Given the description of an element on the screen output the (x, y) to click on. 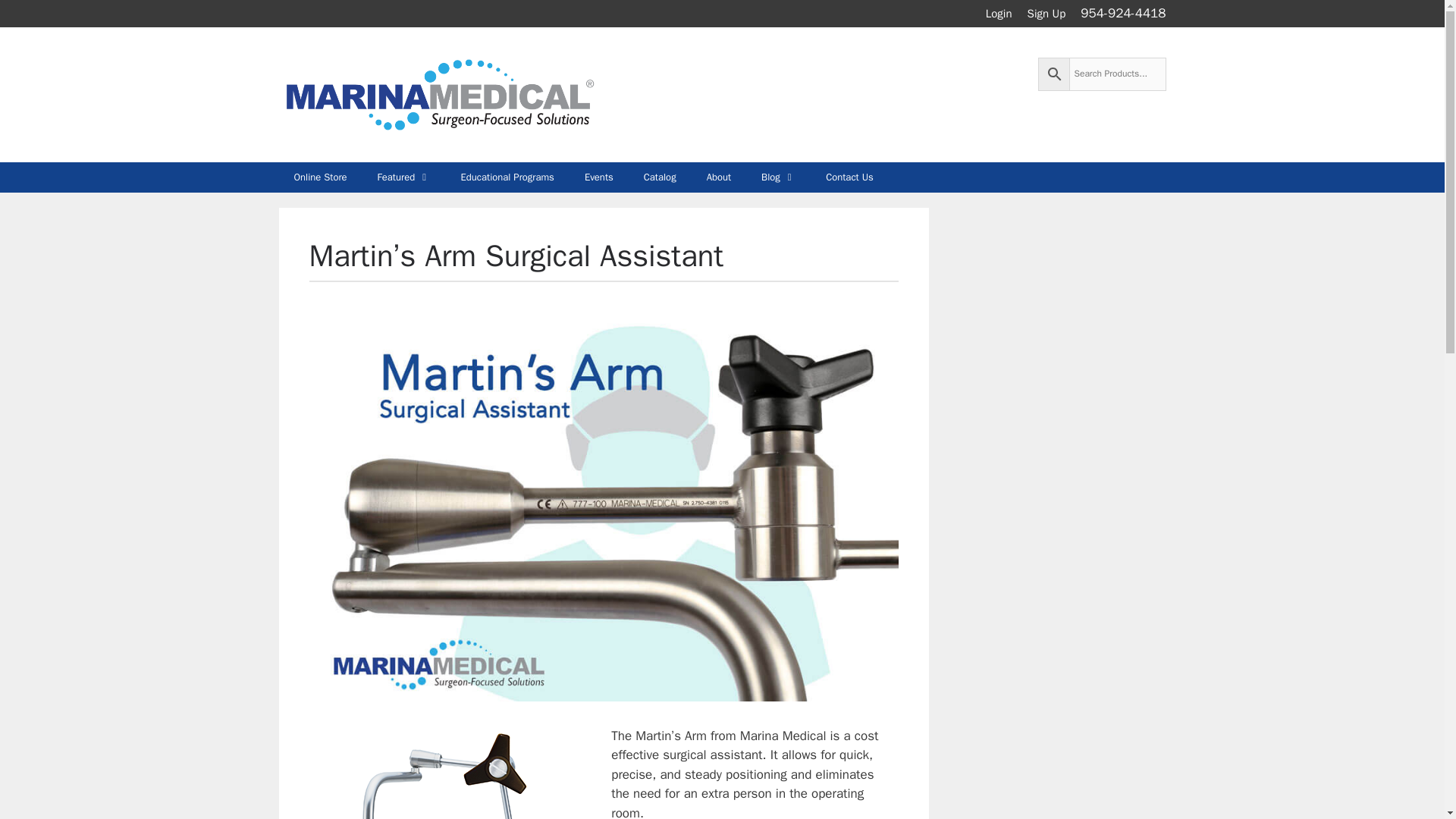
Contact Us (849, 177)
Events (598, 177)
Marina Medical Instruments (437, 93)
Catalog (659, 177)
Blog (777, 177)
Educational Programs (507, 177)
Sign Up (1046, 13)
About (718, 177)
Login (998, 13)
Online Store (320, 177)
